Given the description of an element on the screen output the (x, y) to click on. 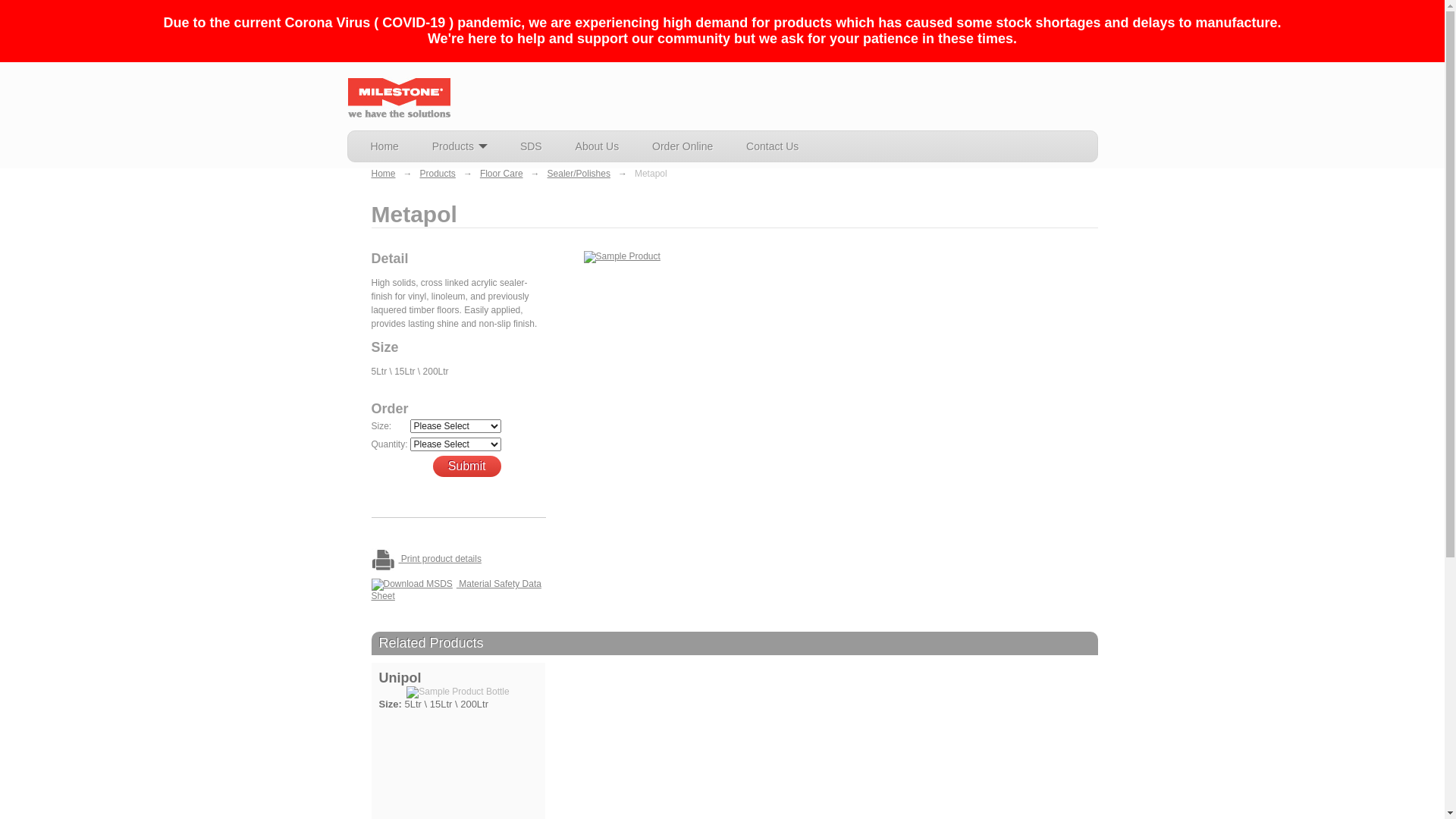
Products Element type: text (459, 146)
Order Online Element type: text (682, 146)
Material Safety Data Sheet Element type: text (458, 589)
Floor Care Element type: text (501, 173)
Products Element type: text (437, 173)
Home Element type: text (383, 146)
Submit Element type: text (467, 465)
About Us Element type: text (597, 146)
Sealer/Polishes Element type: text (578, 173)
Contact Us Element type: text (772, 146)
Home Element type: text (383, 173)
SDS Element type: text (530, 146)
Print product details Element type: text (458, 559)
Milestone Chemicals Element type: hover (399, 96)
